Given the description of an element on the screen output the (x, y) to click on. 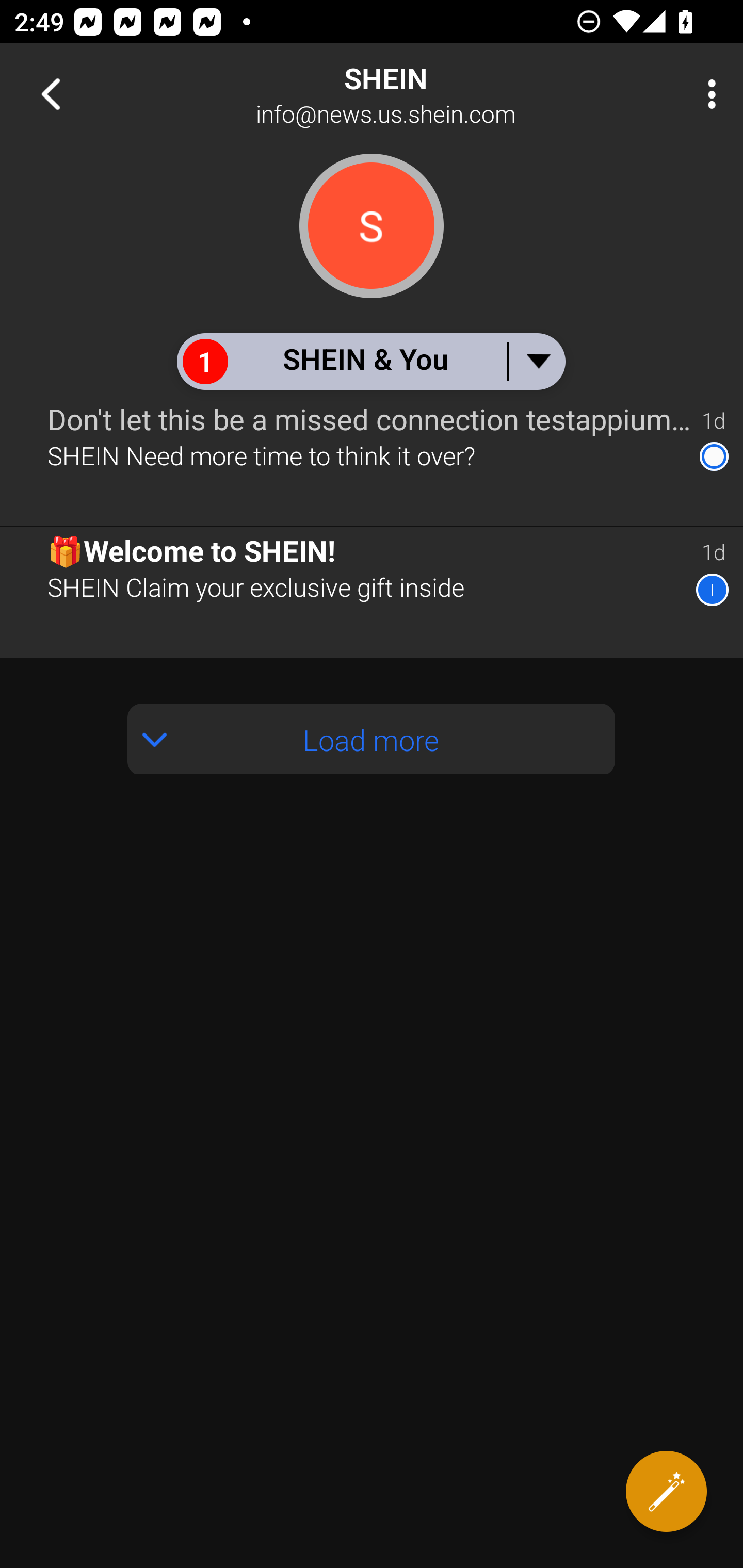
Navigate up (50, 93)
SHEIN info@news.us.shein.com (436, 93)
More Options (706, 93)
1 SHEIN & You (370, 361)
Load more (371, 739)
